Given the description of an element on the screen output the (x, y) to click on. 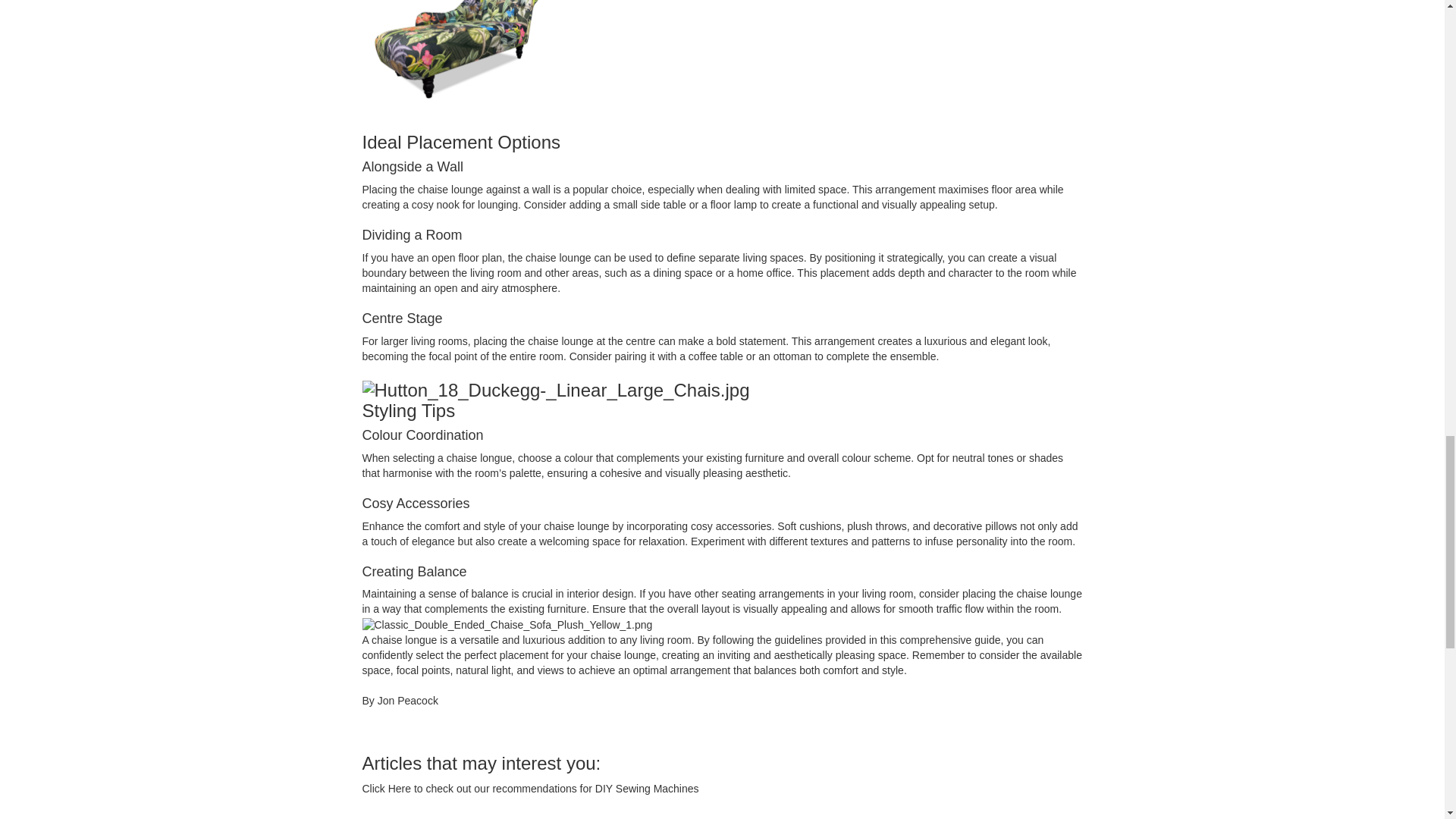
Jon Peacock (407, 700)
chaise longue (479, 458)
chaise lounge (450, 189)
